Given the description of an element on the screen output the (x, y) to click on. 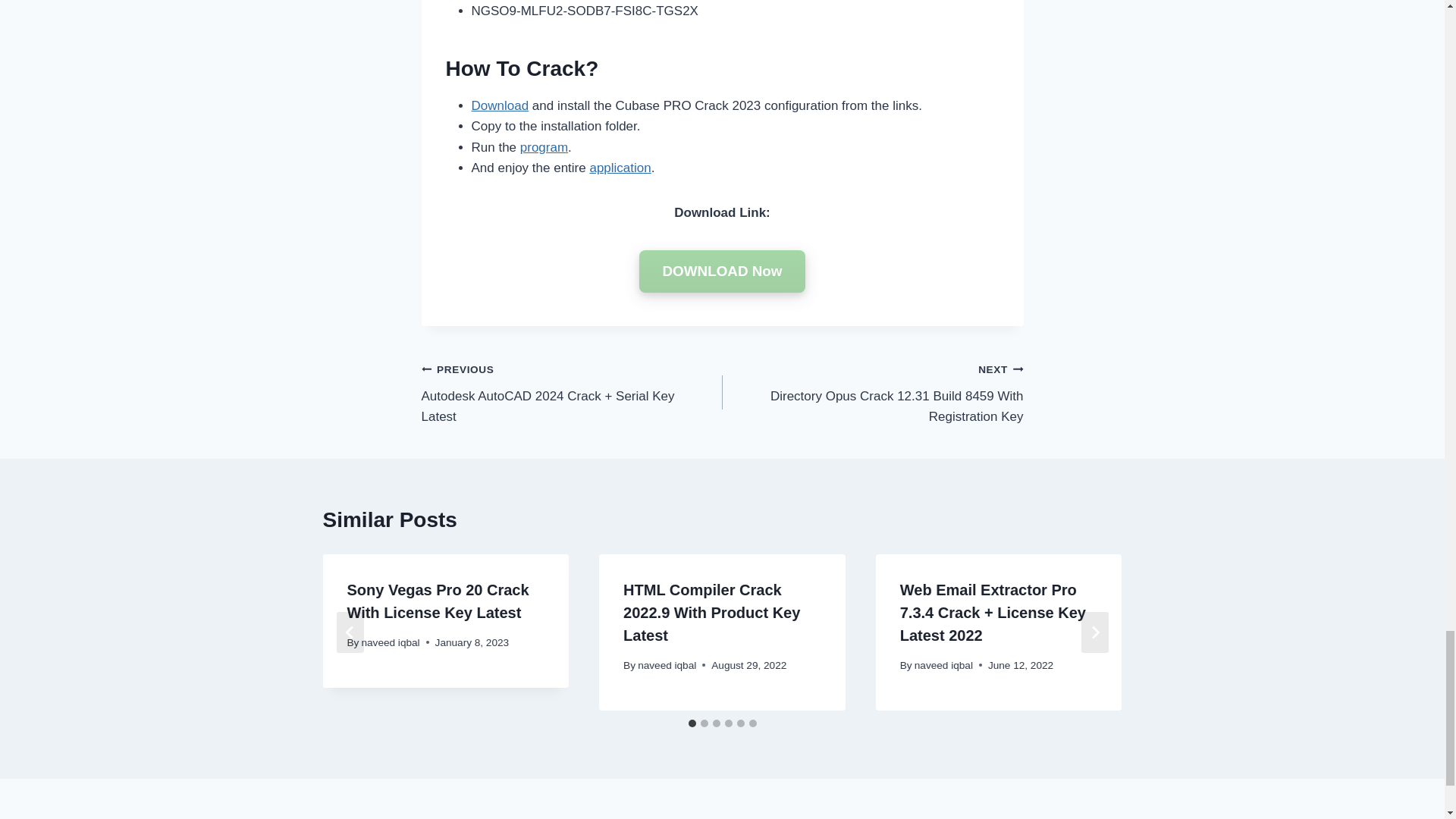
DOWNLOAD Now (721, 271)
DOWNLOAD Now (722, 271)
program (543, 147)
Download (500, 105)
application (619, 167)
